Given the description of an element on the screen output the (x, y) to click on. 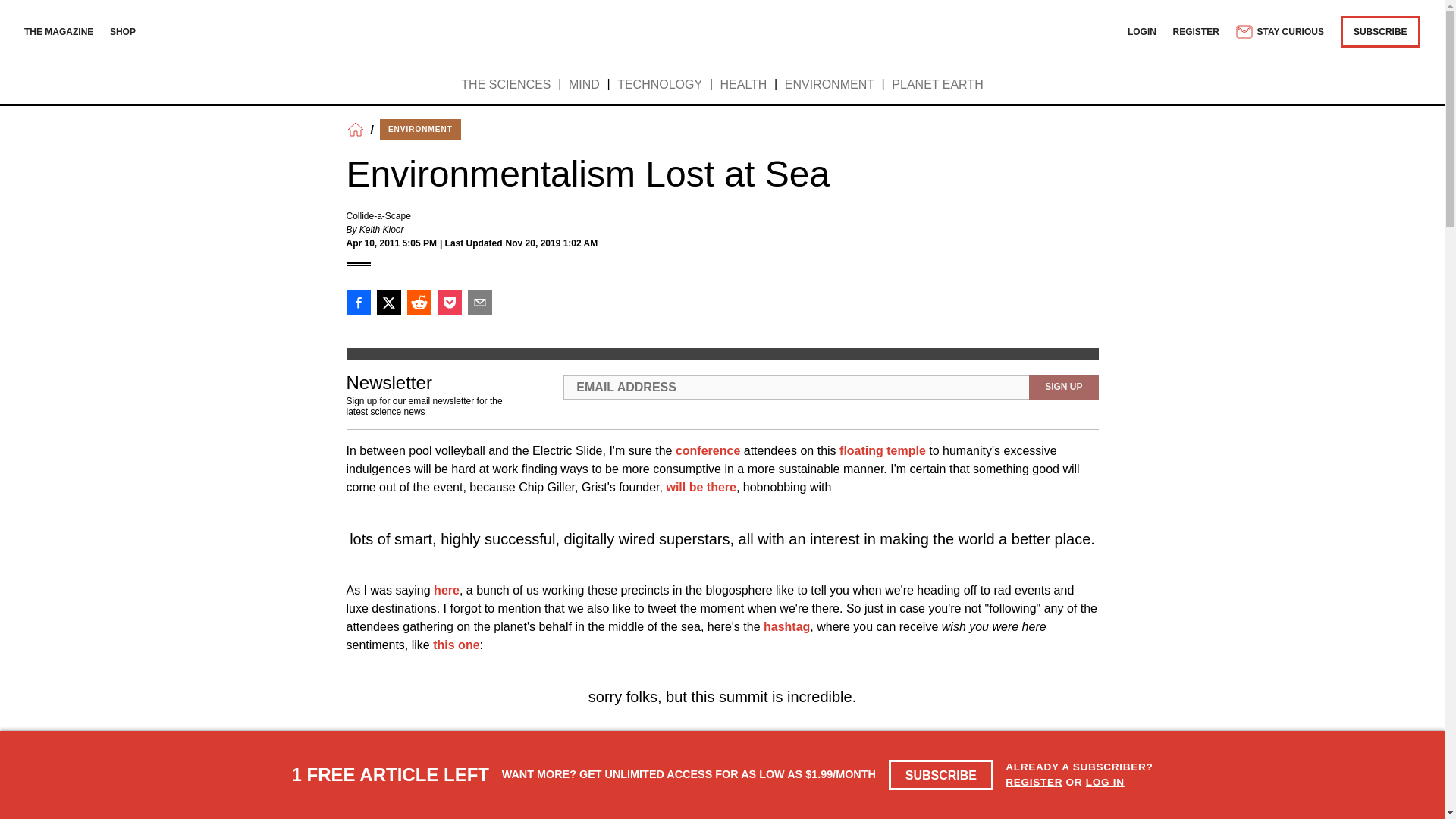
Collide-a-Scape (378, 215)
LOGIN (1141, 31)
PLANET EARTH (936, 84)
will be there (700, 486)
TECHNOLOGY (659, 84)
here (446, 590)
SHOP (122, 31)
conference (707, 450)
tweets like this (747, 748)
MIND (584, 84)
